Given the description of an element on the screen output the (x, y) to click on. 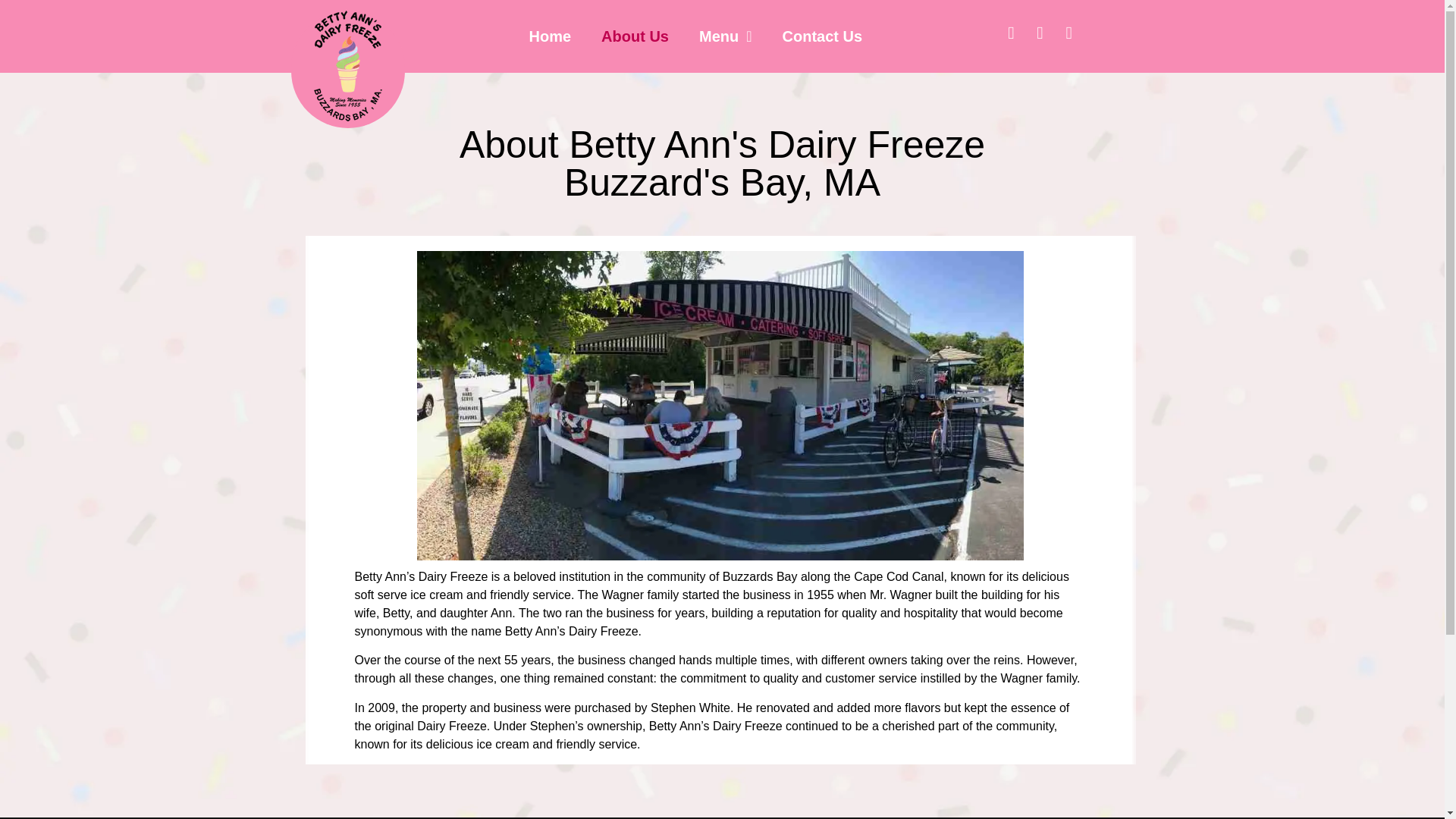
Menu (725, 36)
Contact Us (822, 36)
About Us (635, 36)
Home (549, 36)
